Given the description of an element on the screen output the (x, y) to click on. 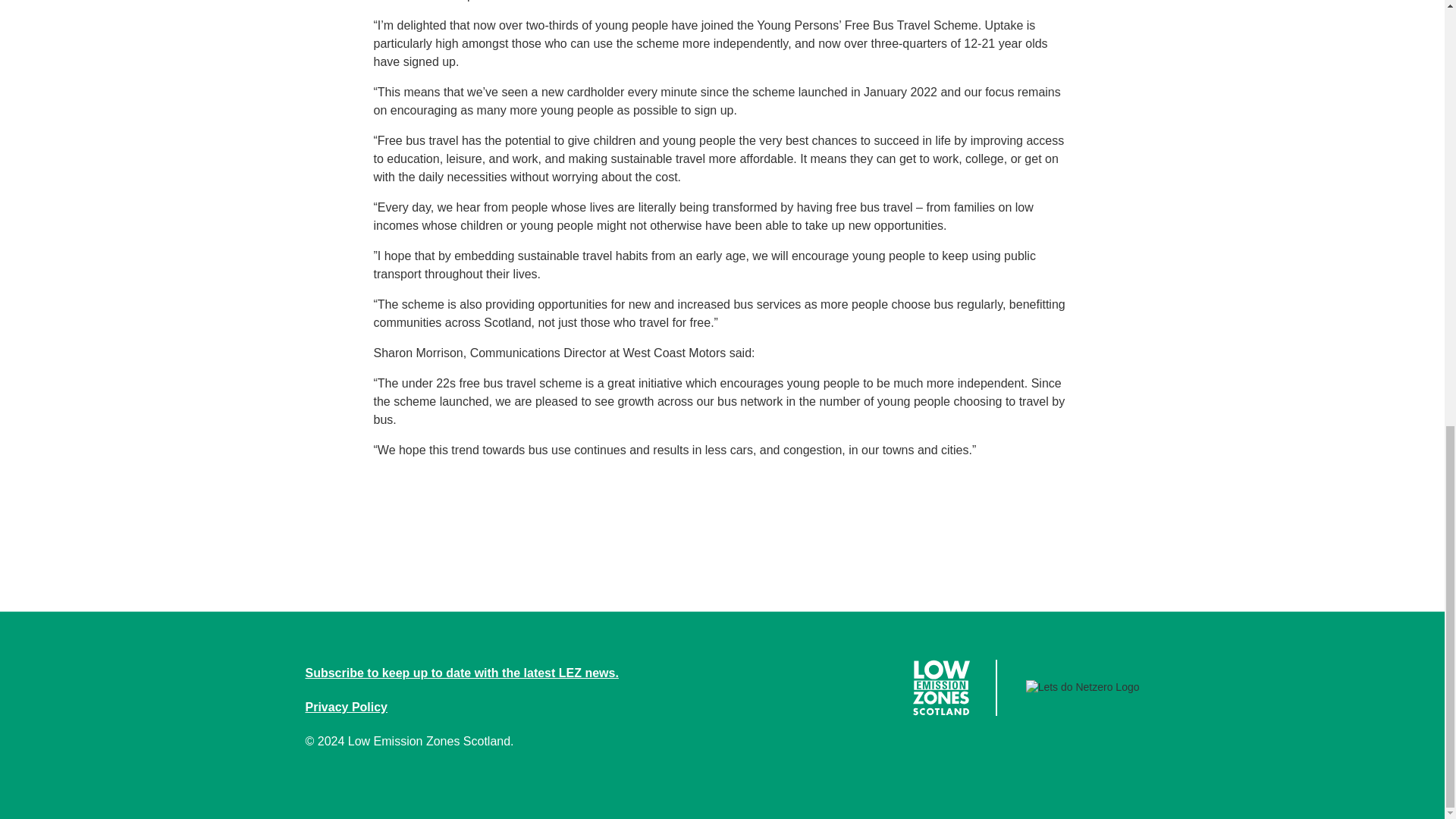
Subscribe to keep up to date with the latest LEZ news. (460, 672)
Privacy Policy (345, 707)
